Given the description of an element on the screen output the (x, y) to click on. 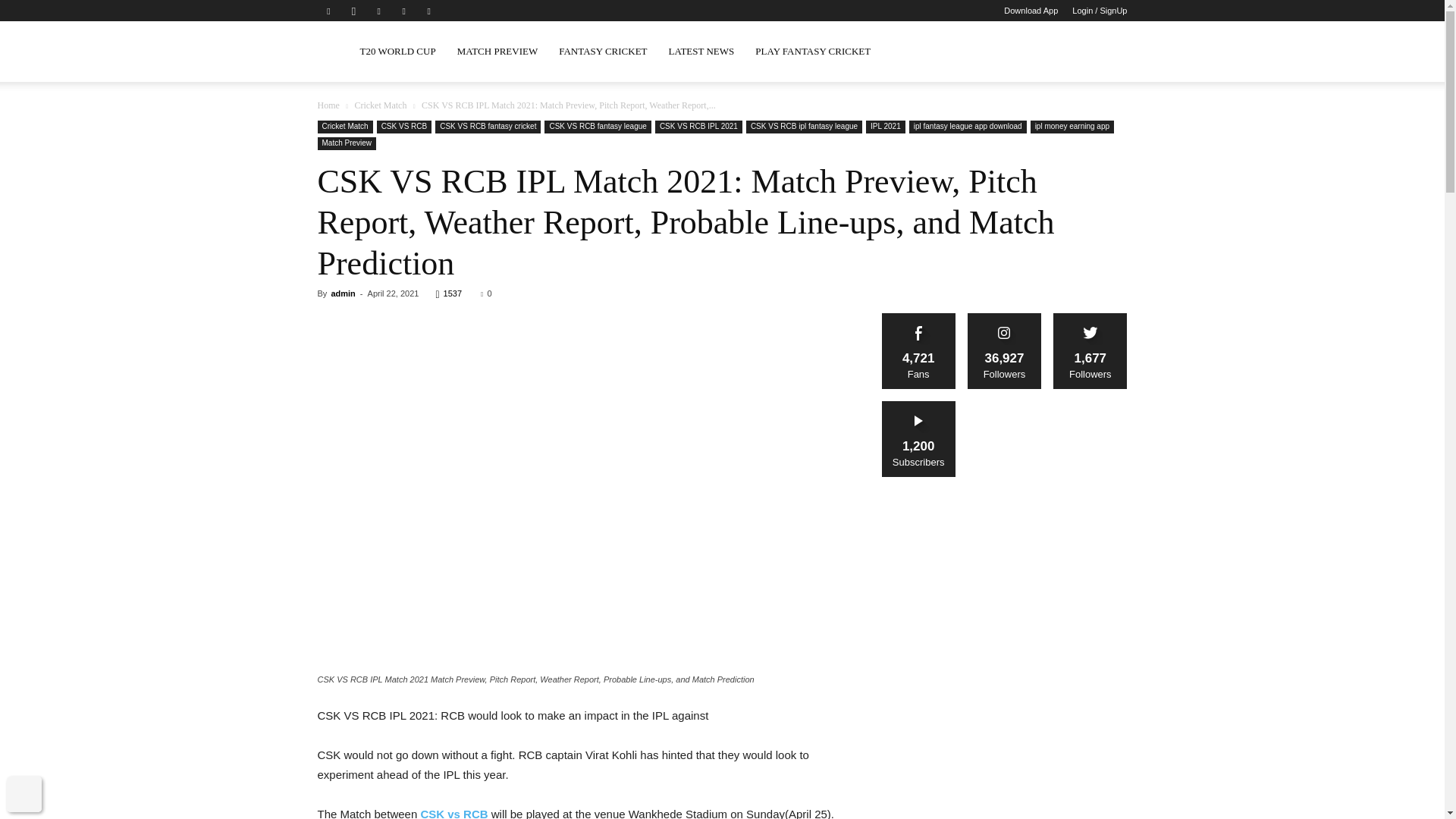
Cricket Match (379, 104)
Home (328, 104)
Youtube (429, 10)
CSK VS RCB (404, 126)
Linkedin (379, 10)
Facebook (328, 10)
T20 WORLD CUP (397, 51)
Twitter (403, 10)
Download App (1031, 10)
